Given the description of an element on the screen output the (x, y) to click on. 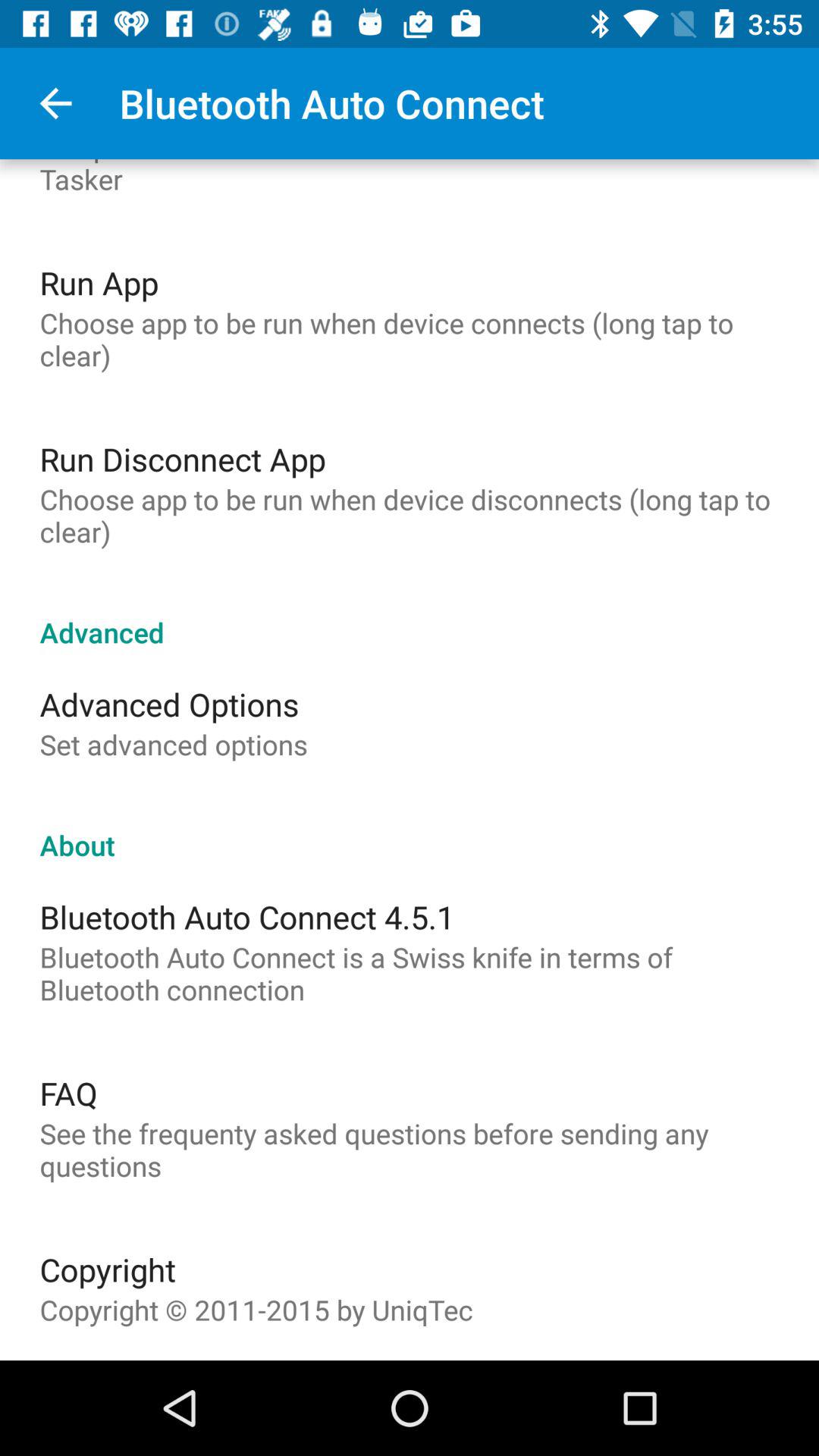
scroll to the about icon (409, 828)
